Given the description of an element on the screen output the (x, y) to click on. 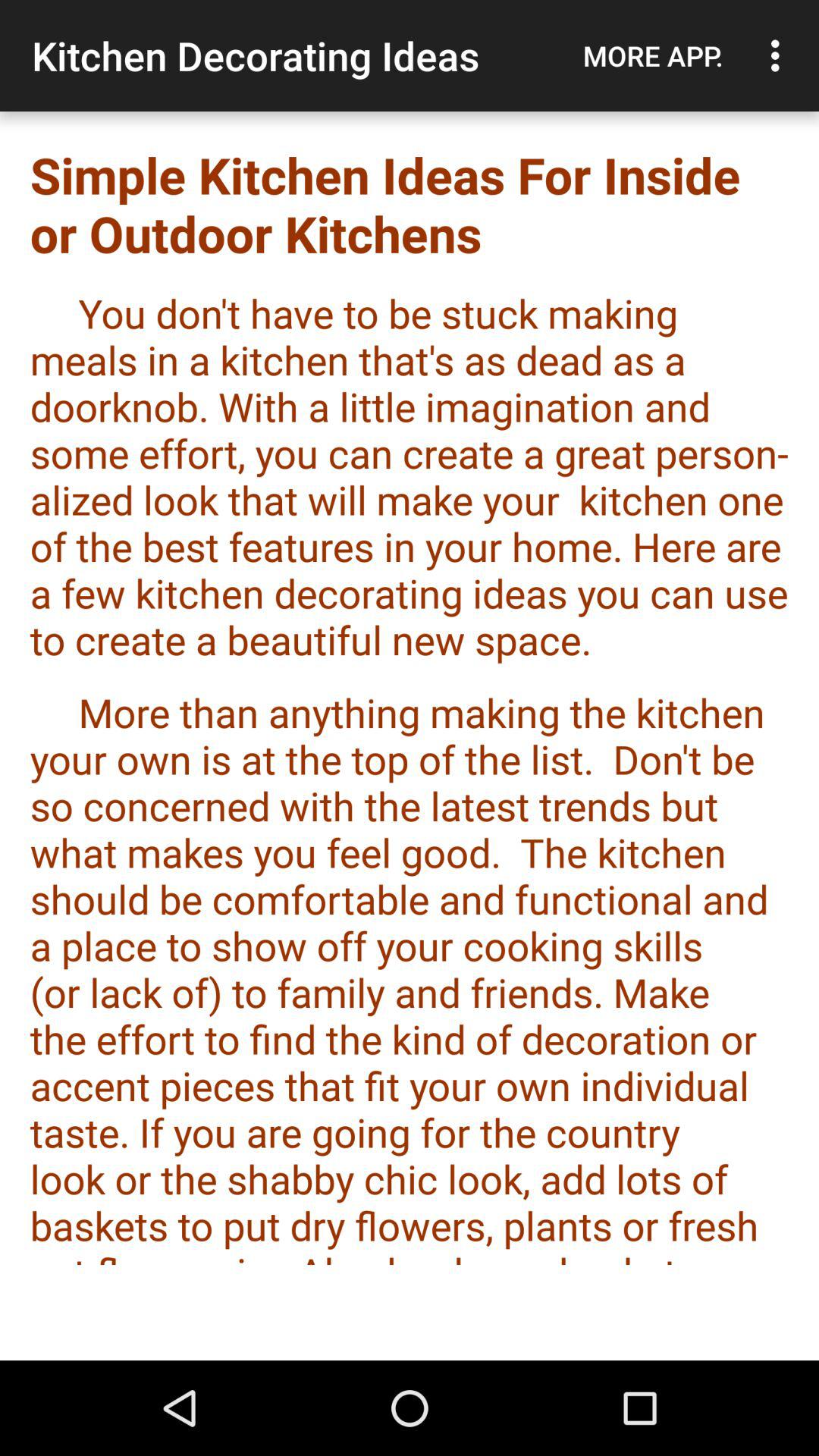
open item to the right of more app. icon (779, 55)
